Given the description of an element on the screen output the (x, y) to click on. 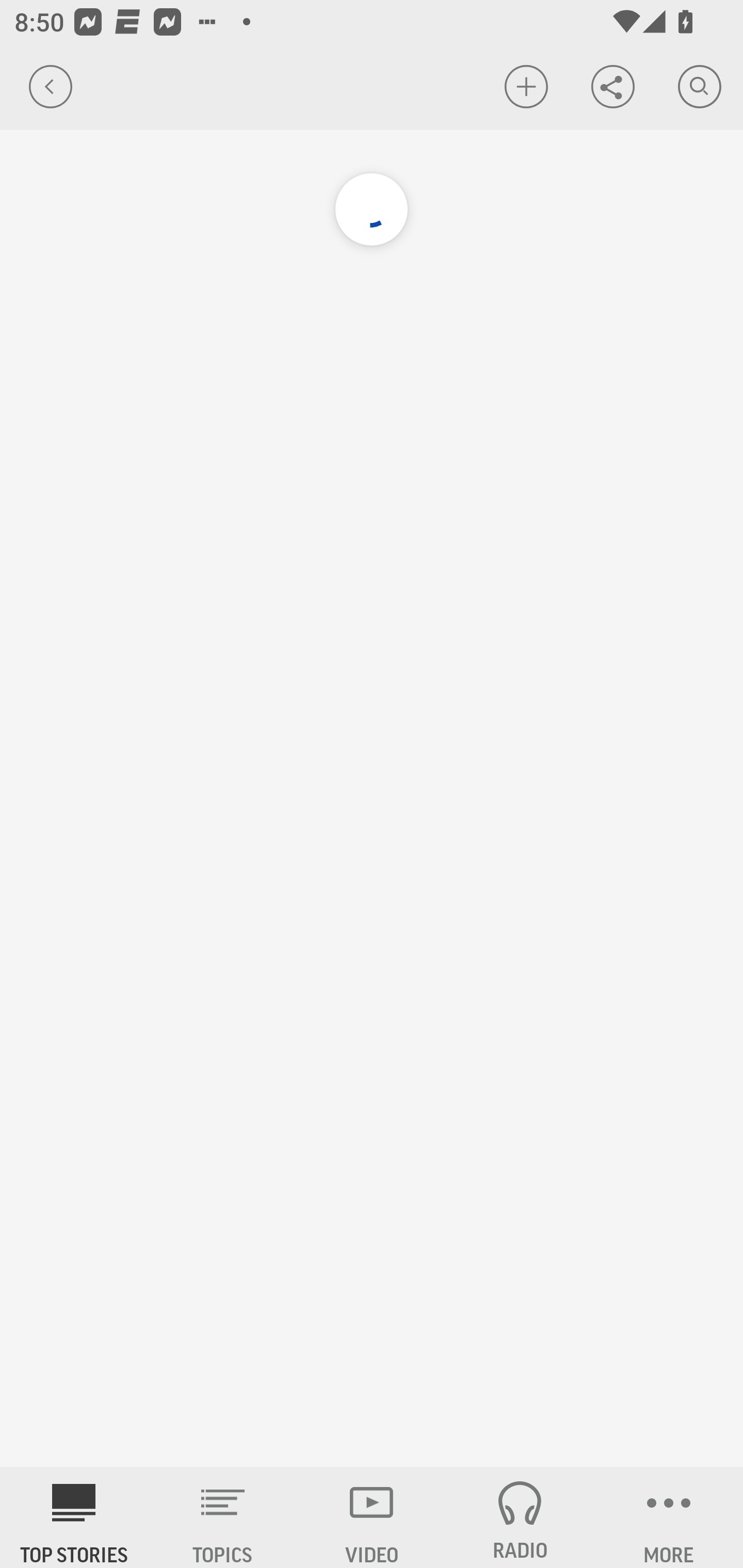
AP News TOP STORIES (74, 1517)
TOPICS (222, 1517)
VIDEO (371, 1517)
RADIO (519, 1517)
MORE (668, 1517)
